Given the description of an element on the screen output the (x, y) to click on. 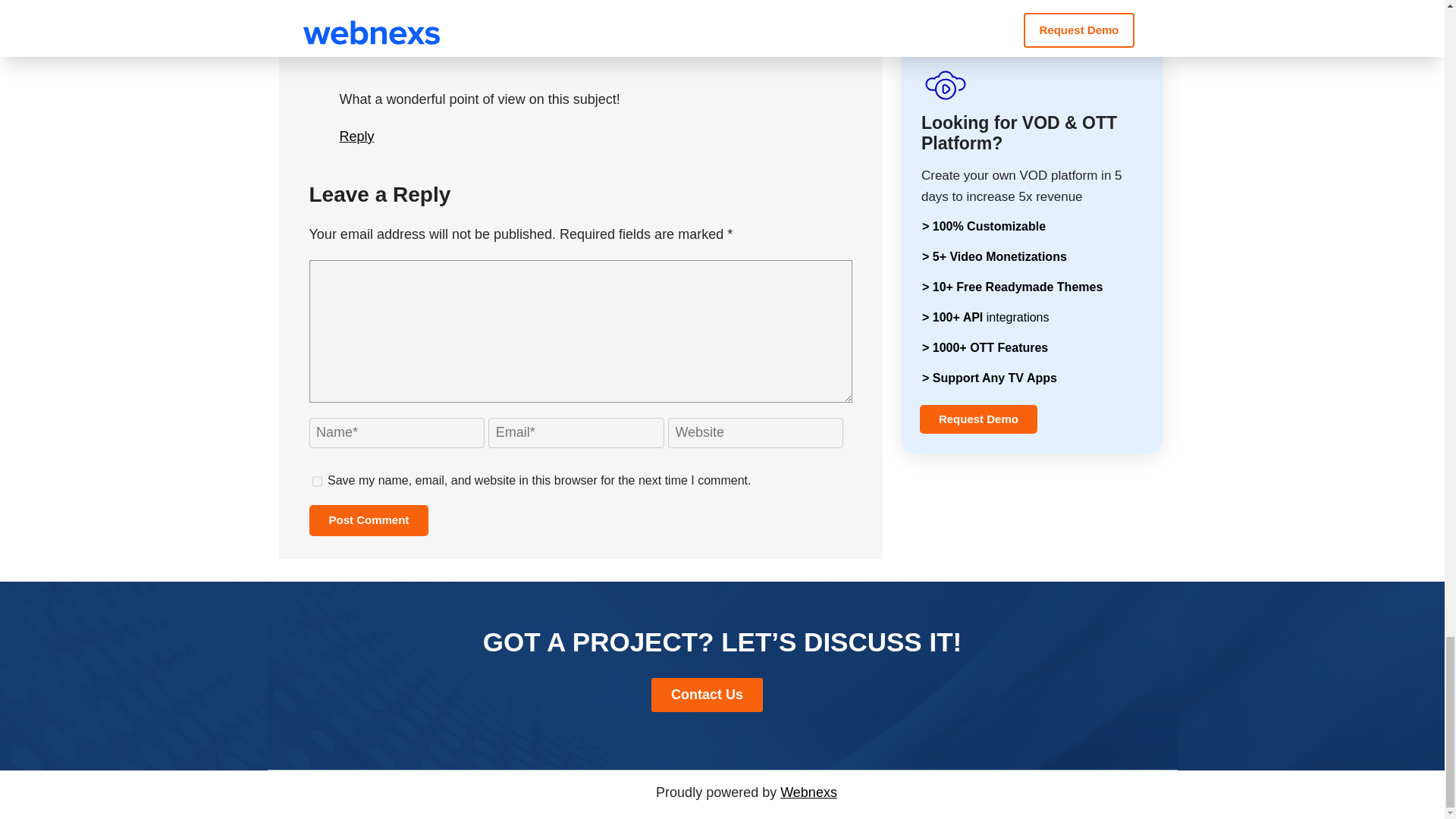
Webnexs (808, 792)
Contact Us (706, 694)
Post Comment (368, 520)
August 9, 2022 (409, 41)
Reply (356, 136)
Post Comment (368, 520)
